Given the description of an element on the screen output the (x, y) to click on. 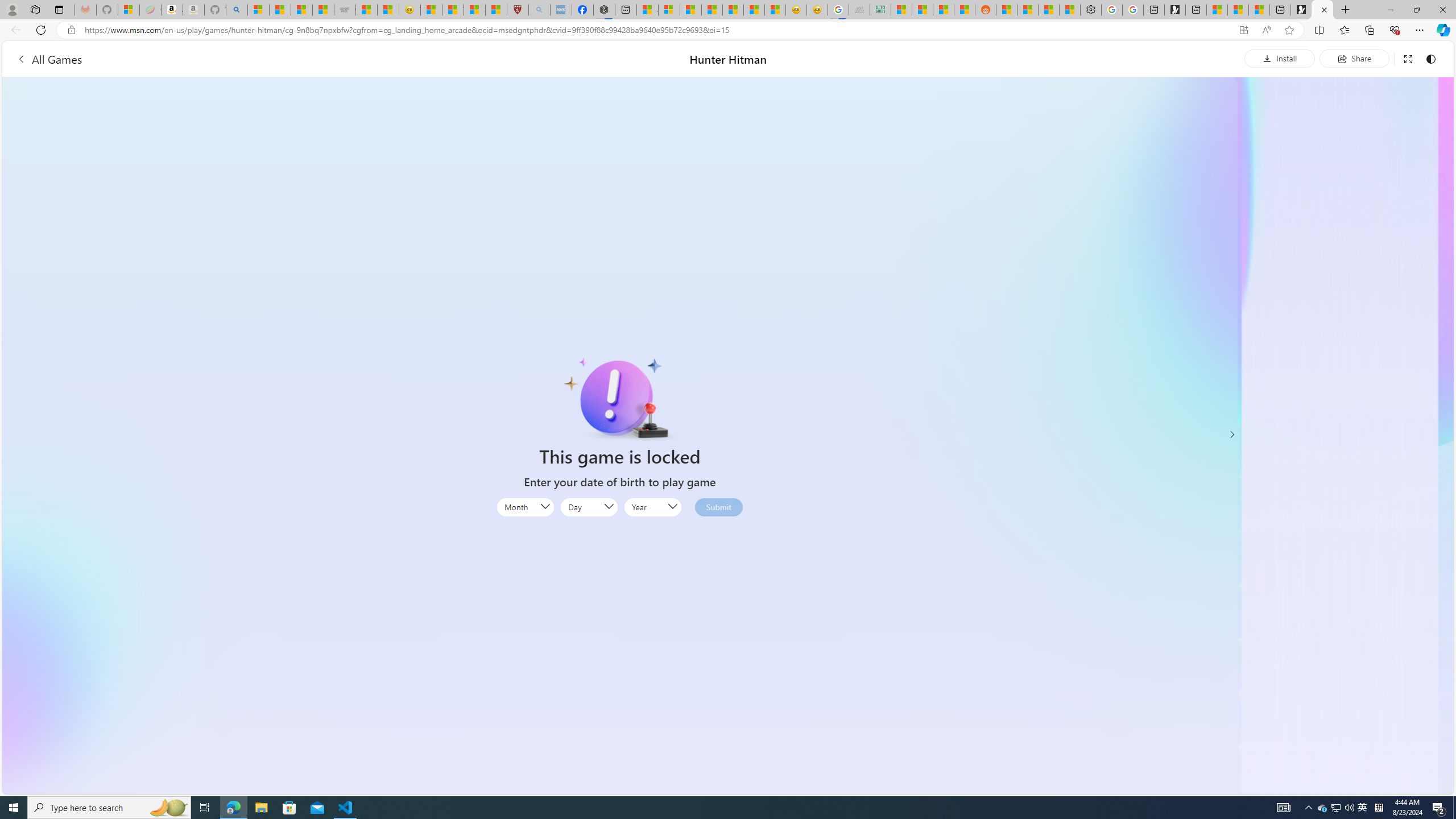
Class: locked-icon-img (619, 399)
NCL Adult Asthma Inhaler Choice Guideline - Sleeping (561, 9)
Personal Profile (12, 9)
Install (1279, 58)
Month (524, 506)
Class: control (1231, 434)
Science - MSN (474, 9)
list of asthma inhalers uk - Search - Sleeping (539, 9)
